Given the description of an element on the screen output the (x, y) to click on. 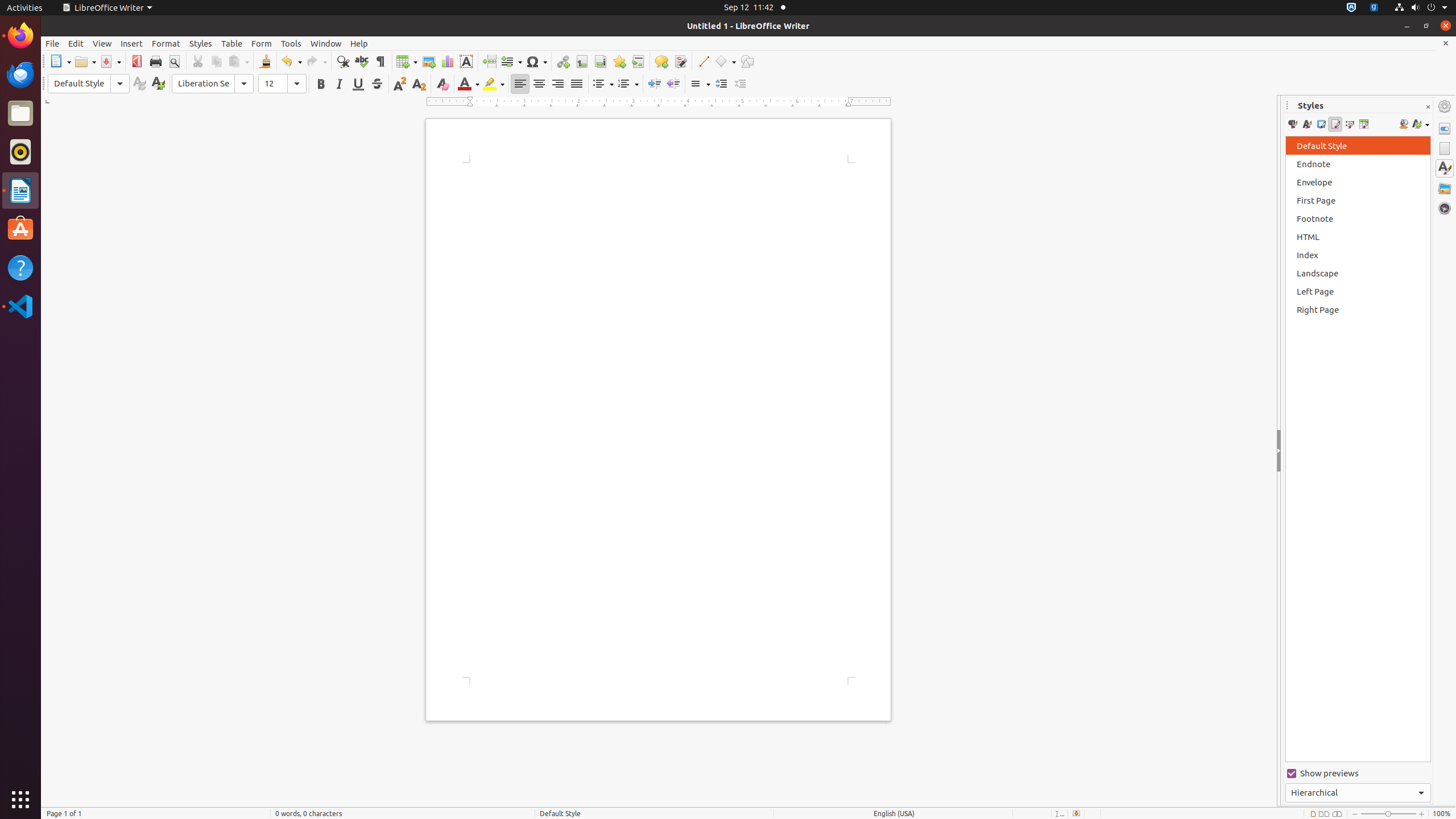
Underline Element type: push-button (357, 83)
Endnote Element type: push-button (599, 61)
Properties Element type: radio-button (1444, 128)
Show previews Element type: check-box (1357, 773)
Files Element type: push-button (20, 113)
